Given the description of an element on the screen output the (x, y) to click on. 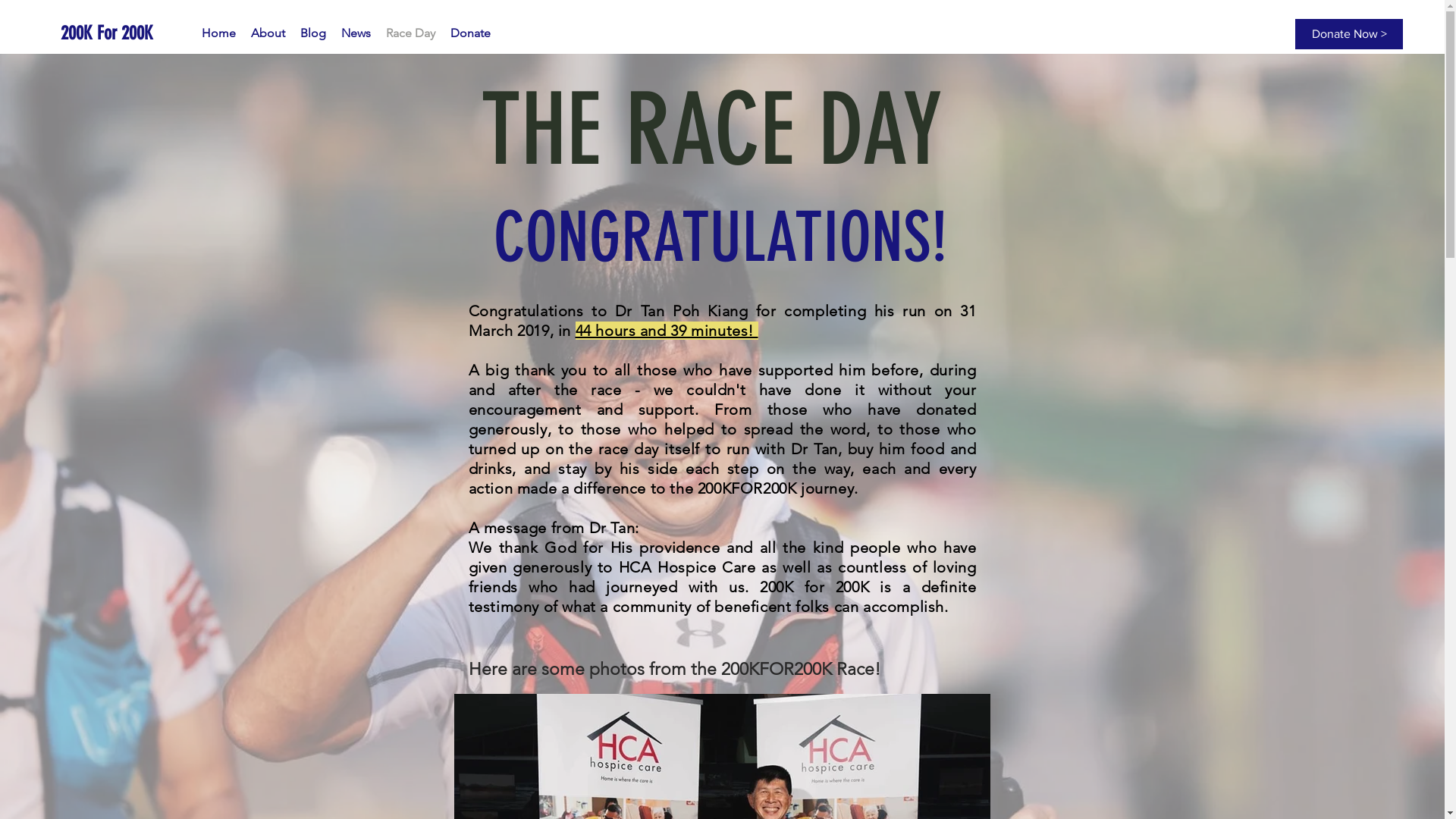
About Element type: text (267, 33)
Blog Element type: text (312, 33)
Race Day Element type: text (410, 33)
Donate Now > Element type: text (1348, 33)
Home Element type: text (218, 33)
200K For 200K Element type: text (117, 32)
News Element type: text (355, 33)
Donate Element type: text (470, 33)
